Given the description of an element on the screen output the (x, y) to click on. 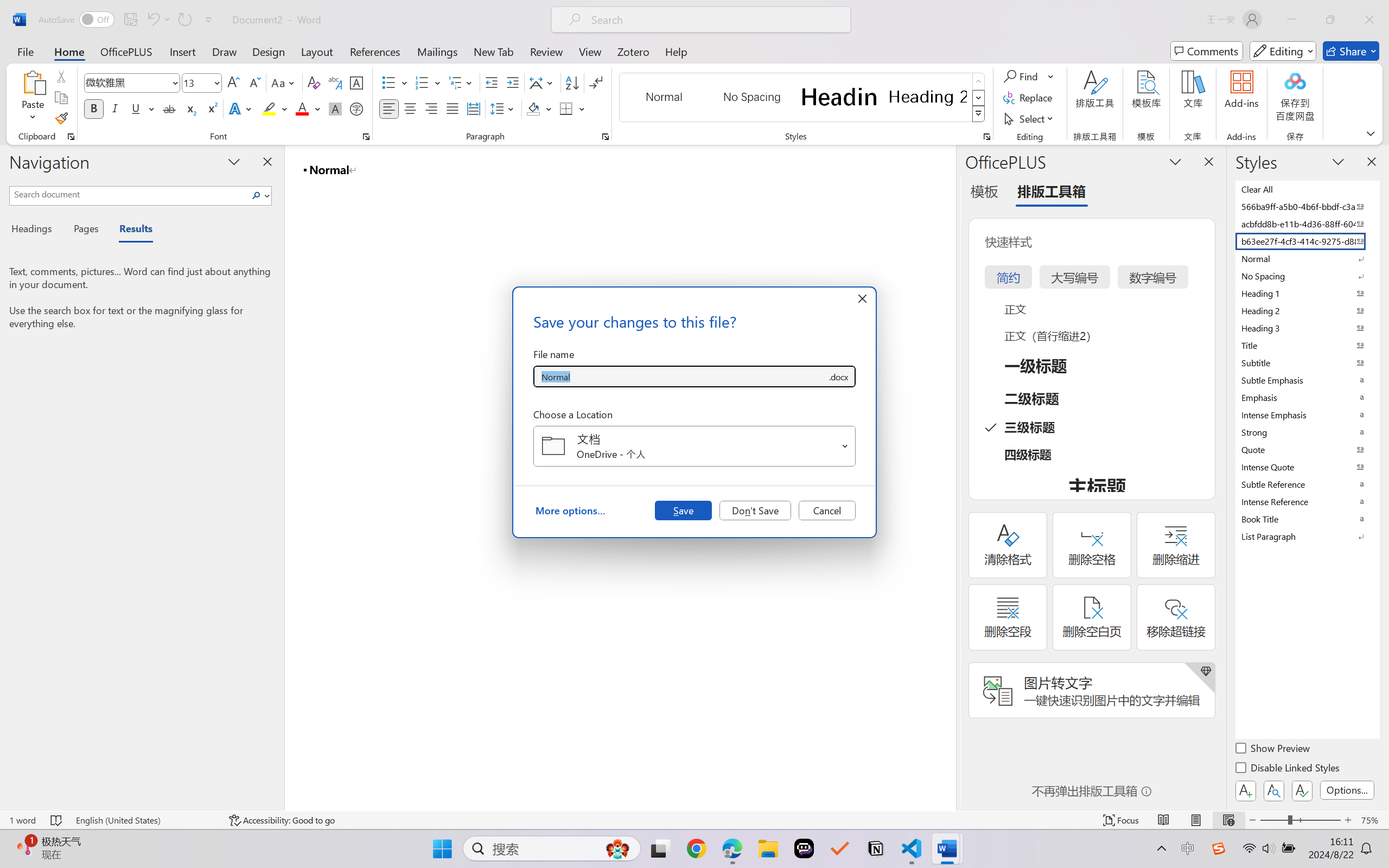
Sort... (571, 82)
Text Effects and Typography (241, 108)
AutomationID: BadgeAnchorLargeTicker (24, 847)
Intense Emphasis (1306, 414)
Paragraph... (605, 136)
Heading 3 (1306, 327)
Character Shading (334, 108)
